Given the description of an element on the screen output the (x, y) to click on. 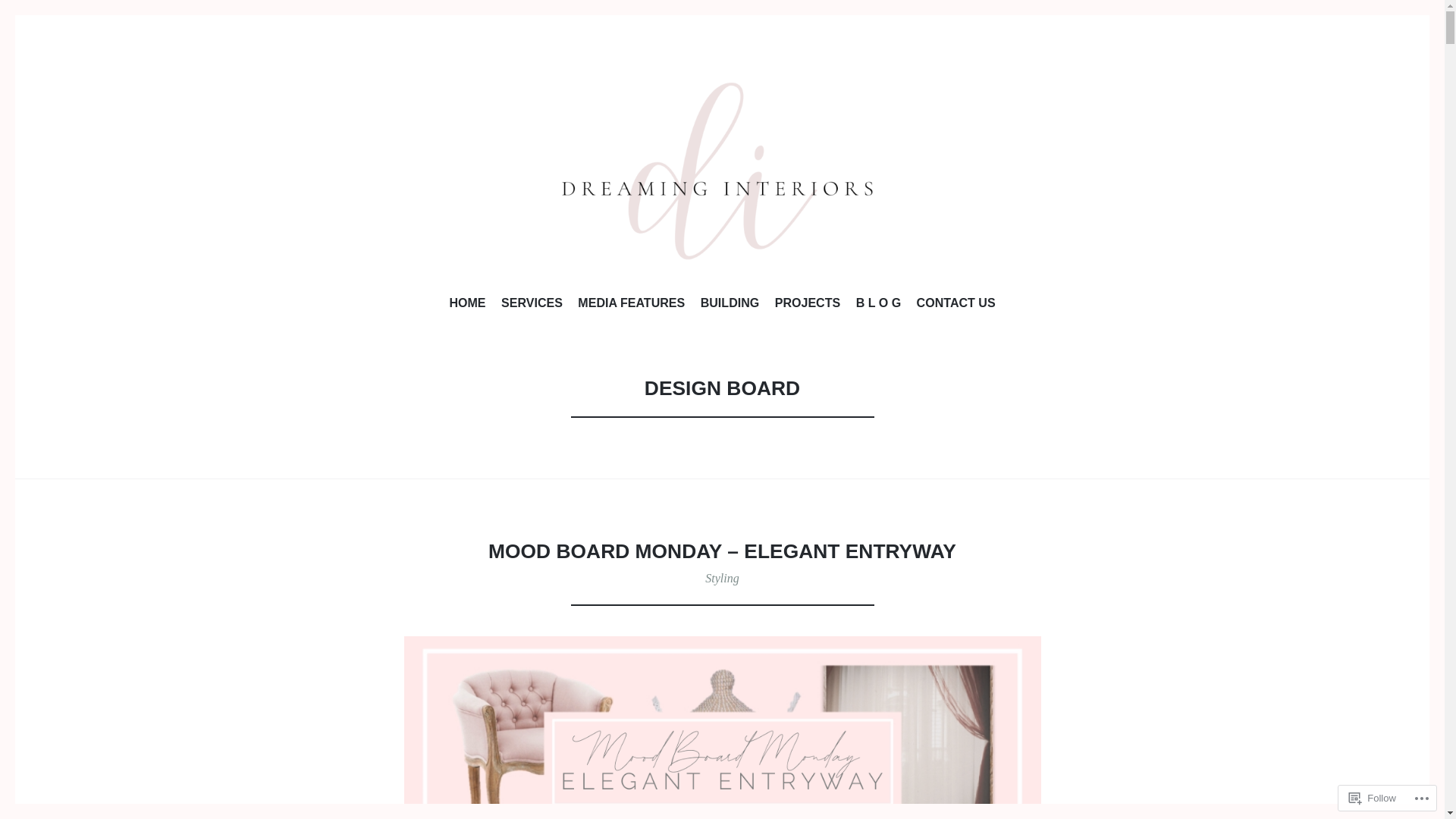
PROJECTS Element type: text (807, 305)
HOME Element type: text (466, 305)
Styling Element type: text (722, 577)
BUILDING Element type: text (729, 305)
B L O G Element type: text (878, 305)
Follow Element type: text (1372, 797)
MEDIA FEATURES Element type: text (630, 305)
SERVICES Element type: text (531, 305)
CONTACT US Element type: text (955, 305)
